Given the description of an element on the screen output the (x, y) to click on. 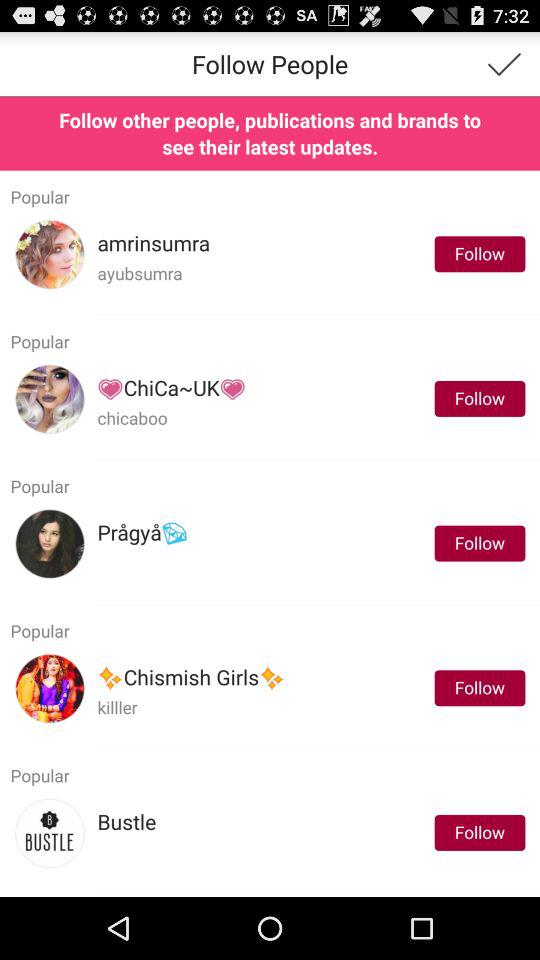
open the app below the follow (317, 604)
